Given the description of an element on the screen output the (x, y) to click on. 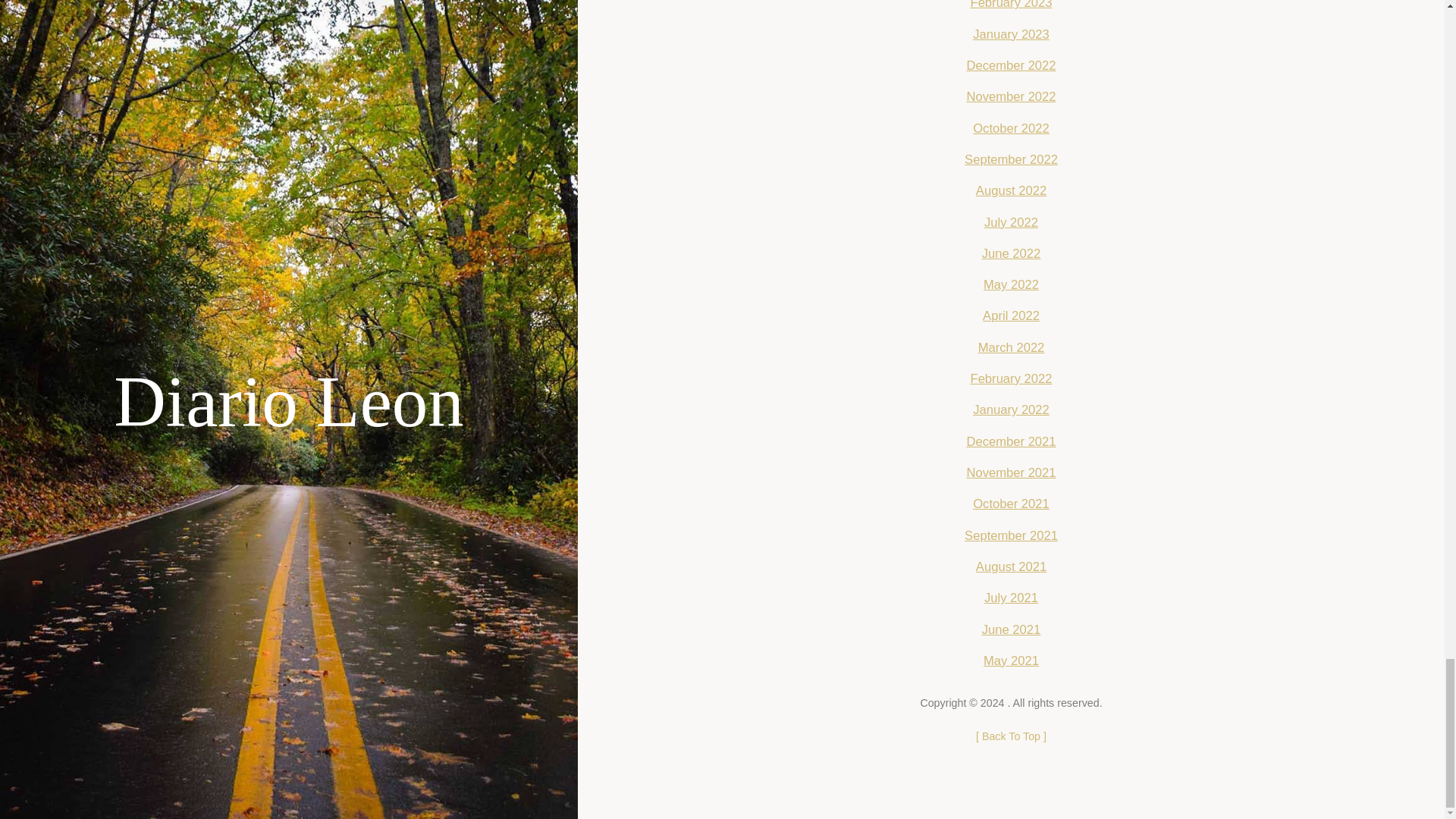
Back To Top (1010, 736)
